Given the description of an element on the screen output the (x, y) to click on. 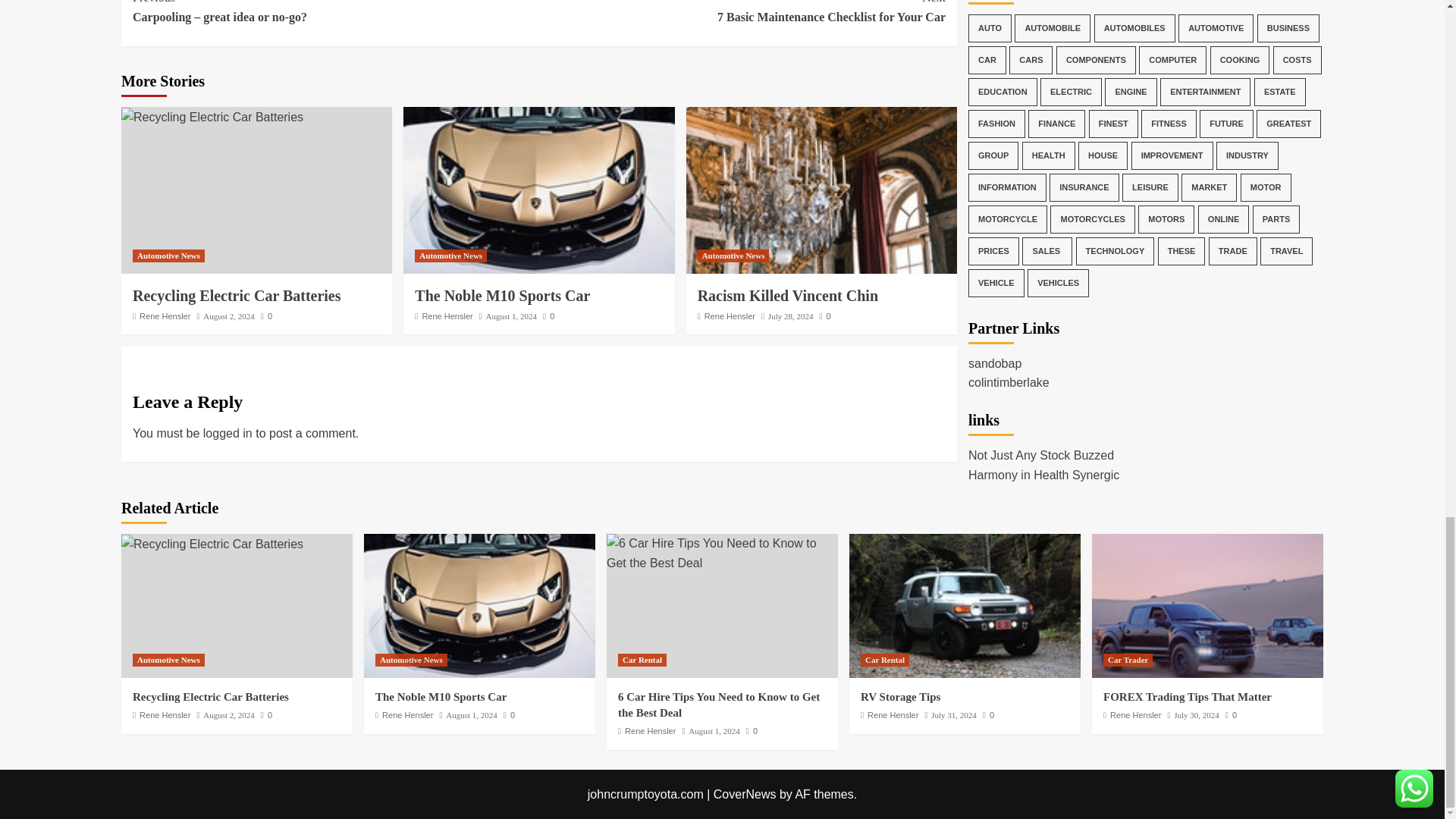
Recycling Electric Car Batteries (211, 544)
Automotive News (168, 255)
August 2, 2024 (228, 316)
Racism Killed Vincent Chin (820, 190)
6 Car Hire Tips You Need to Know to Get the Best Deal (722, 552)
Rene Hensler (164, 316)
The Noble M10 Sports Car (479, 605)
Recycling Electric Car Batteries (236, 295)
Recycling Electric Car Batteries (211, 117)
The Noble M10 Sports Car (538, 190)
